Given the description of an element on the screen output the (x, y) to click on. 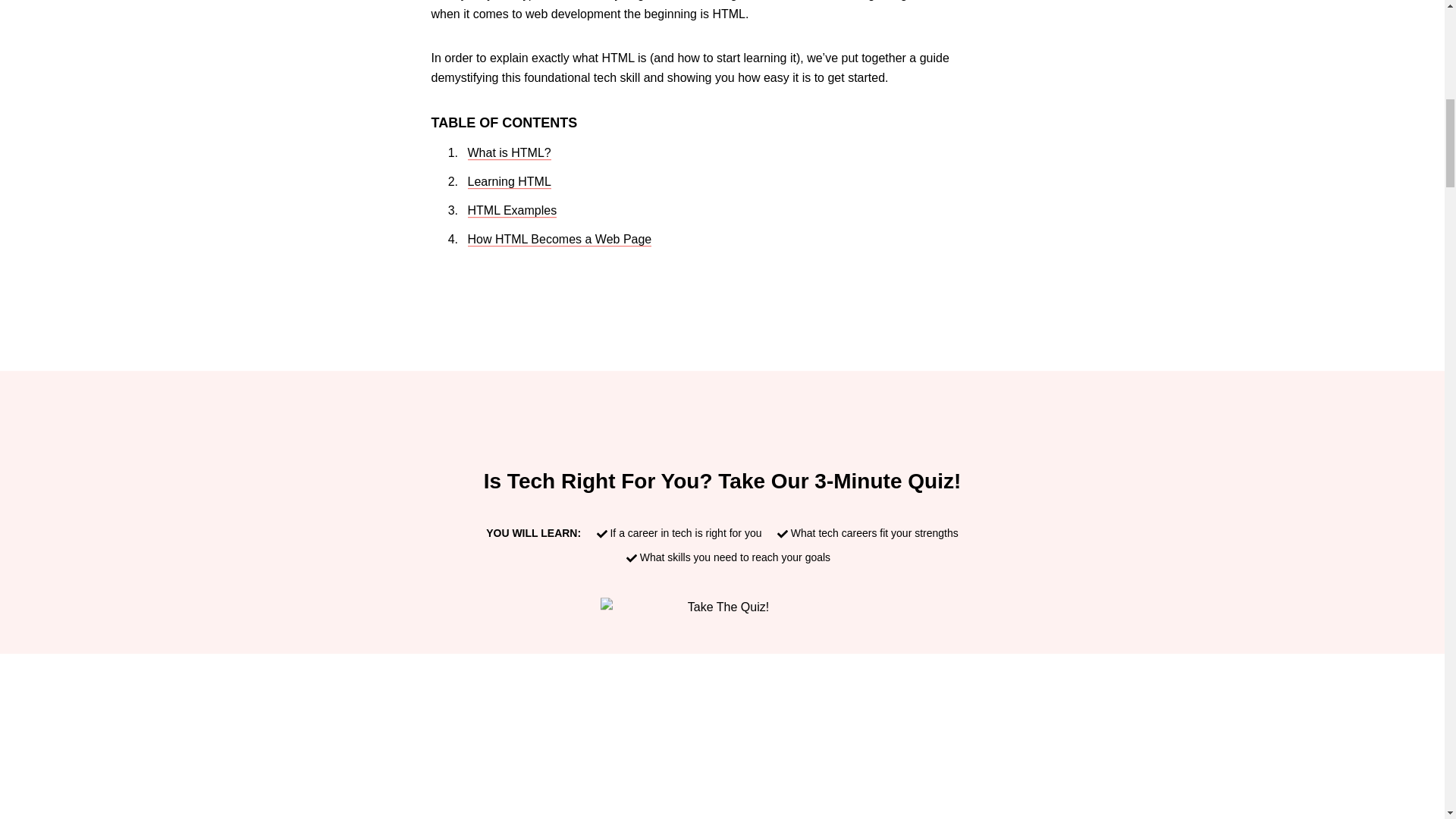
YouTube video player (721, 754)
HTML Examples (511, 210)
Learning HTML (508, 182)
What is HTML? (508, 152)
